Given the description of an element on the screen output the (x, y) to click on. 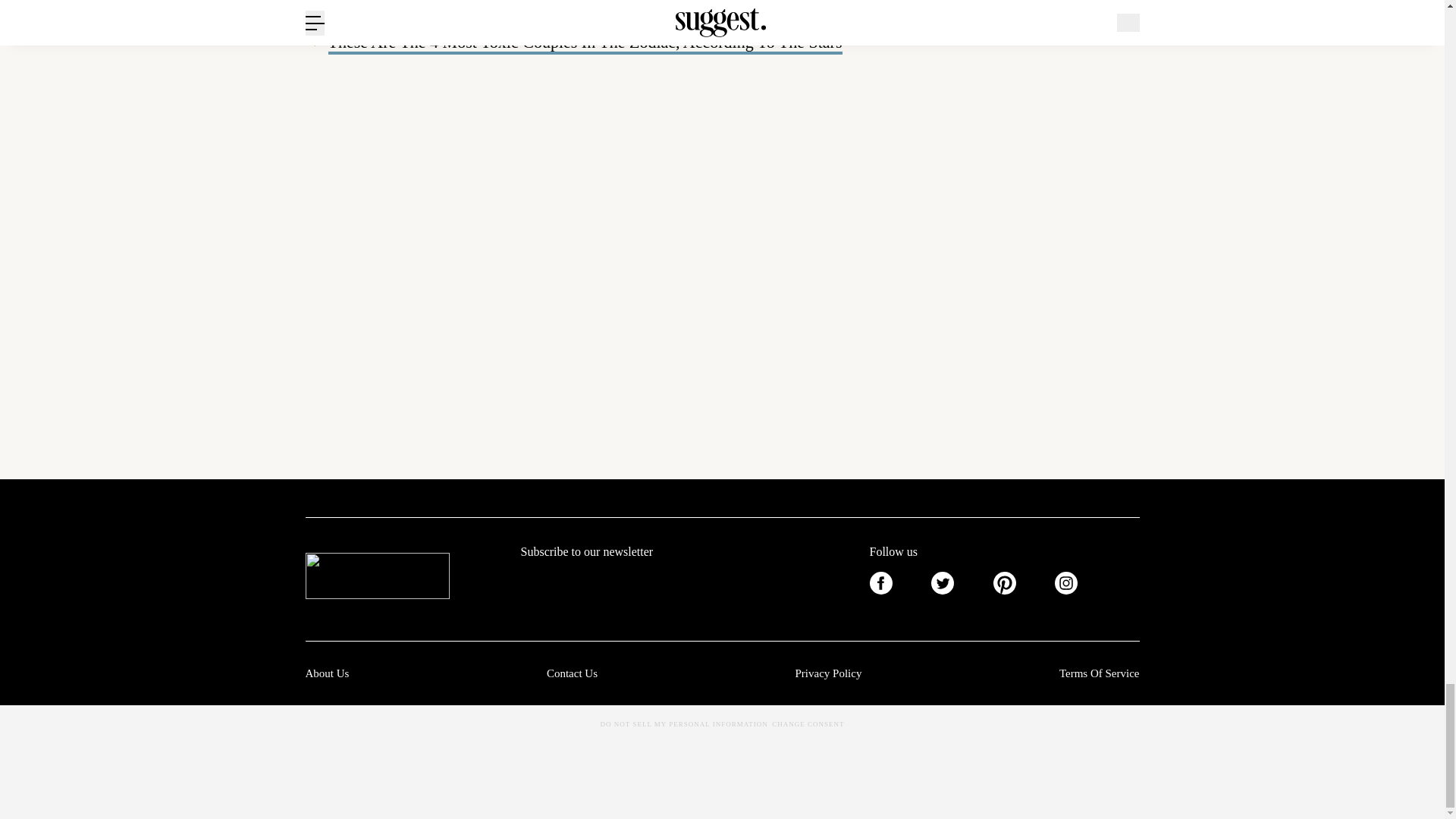
About Us (326, 673)
